Given the description of an element on the screen output the (x, y) to click on. 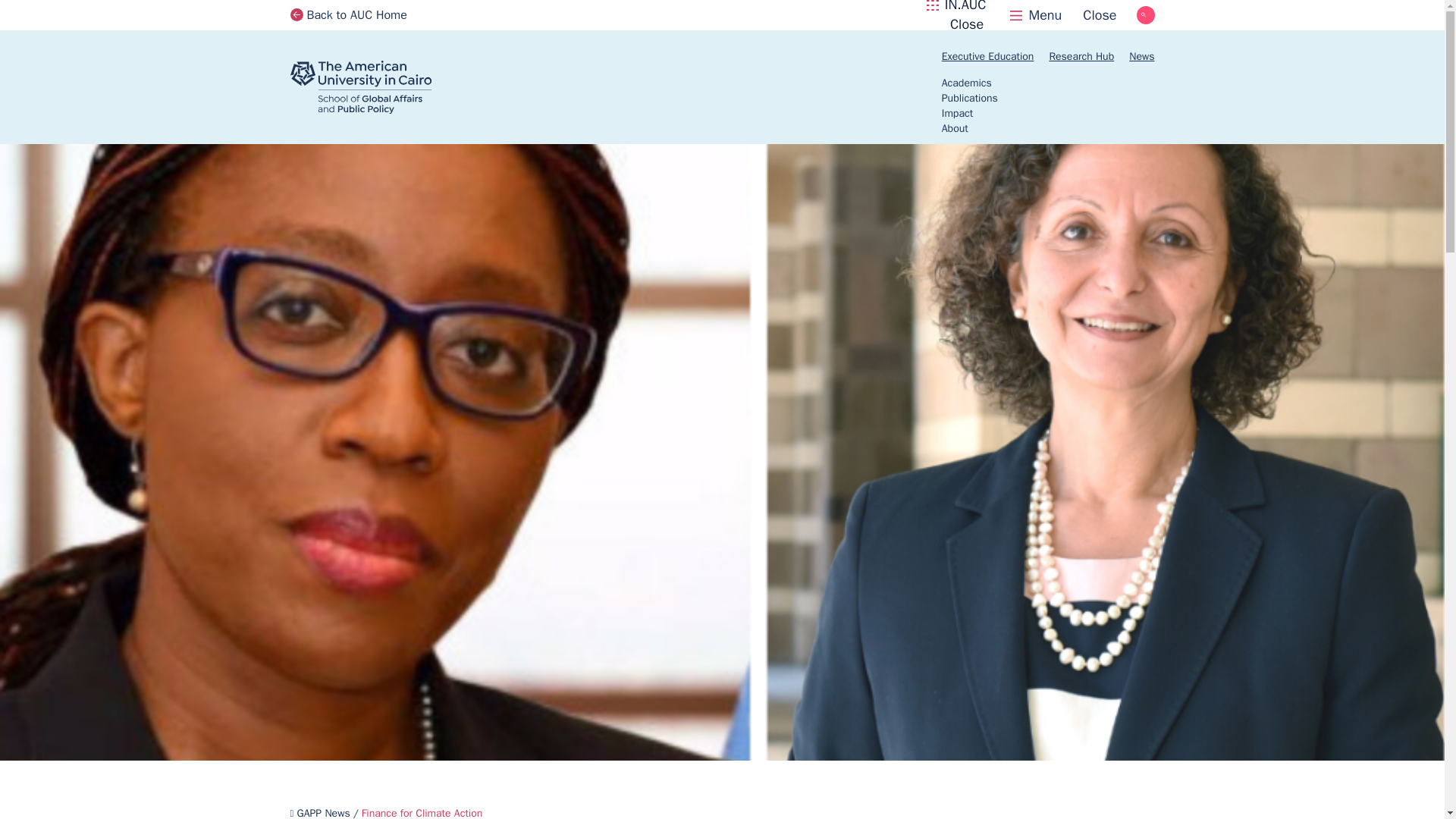
About (1063, 15)
Impact (955, 128)
Academics (957, 113)
Research Hub (966, 82)
Home page (956, 15)
Publications (1081, 56)
Skip to main content (384, 86)
